Given the description of an element on the screen output the (x, y) to click on. 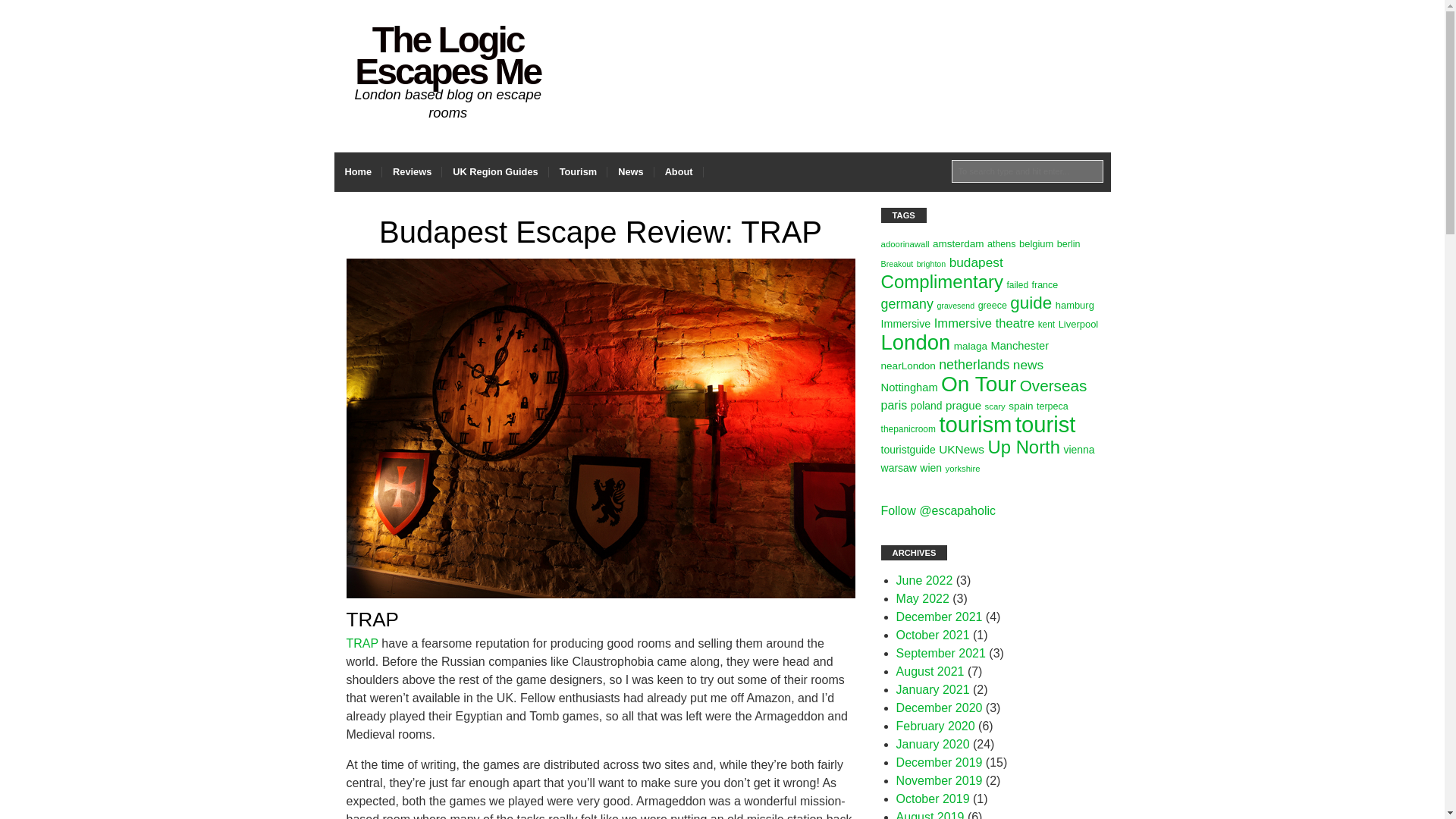
UK Region Guides (495, 171)
The Logic Escapes Me (447, 55)
Reviews (411, 171)
About (678, 171)
Tourism (578, 171)
News (630, 171)
Home (357, 171)
